Given the description of an element on the screen output the (x, y) to click on. 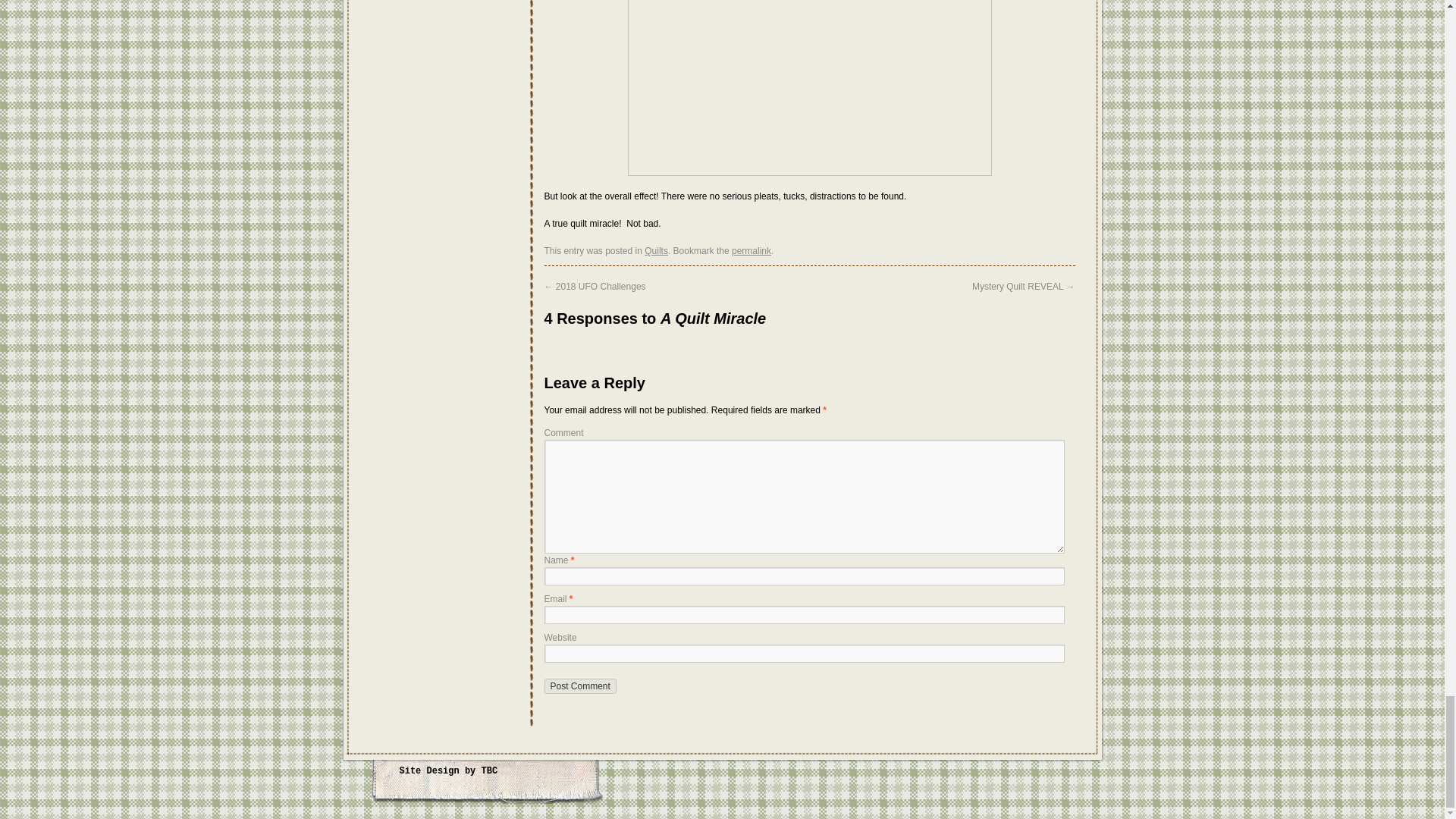
Quilts (656, 250)
permalink (751, 250)
Permalink to A Quilt Miracle (751, 250)
Post Comment (579, 685)
Post Comment (579, 685)
